Given the description of an element on the screen output the (x, y) to click on. 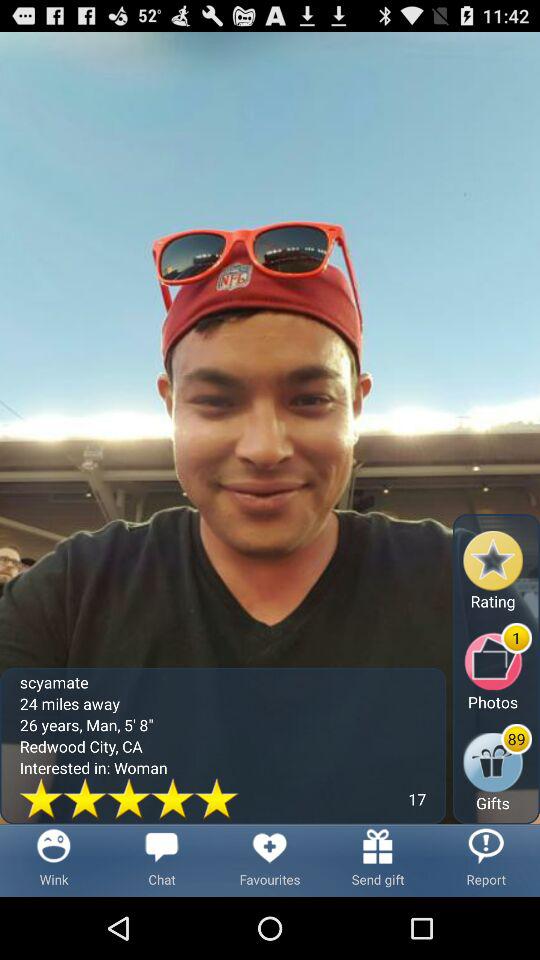
select icon to the right of the send gift icon (486, 860)
